Given the description of an element on the screen output the (x, y) to click on. 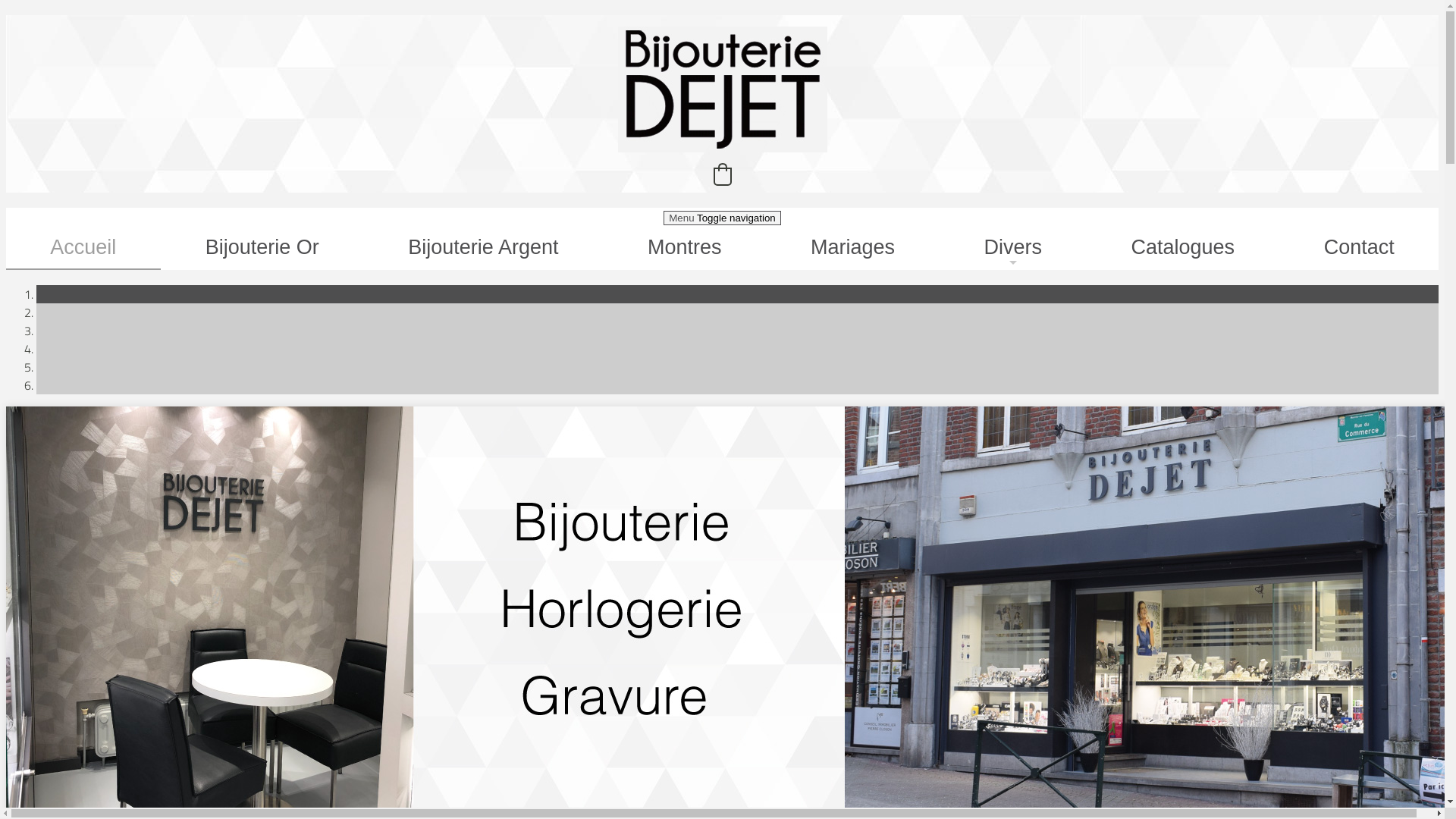
Mariages Element type: text (852, 246)
Catalogues Element type: text (1182, 246)
Menu Toggle navigation Element type: text (722, 217)
Divers Element type: text (1012, 246)
Accueil Element type: text (83, 247)
Montres Element type: text (684, 246)
Bijouterie Or Element type: text (262, 246)
Contact Element type: text (1358, 246)
Bijouterie Argent Element type: text (483, 246)
